Given the description of an element on the screen output the (x, y) to click on. 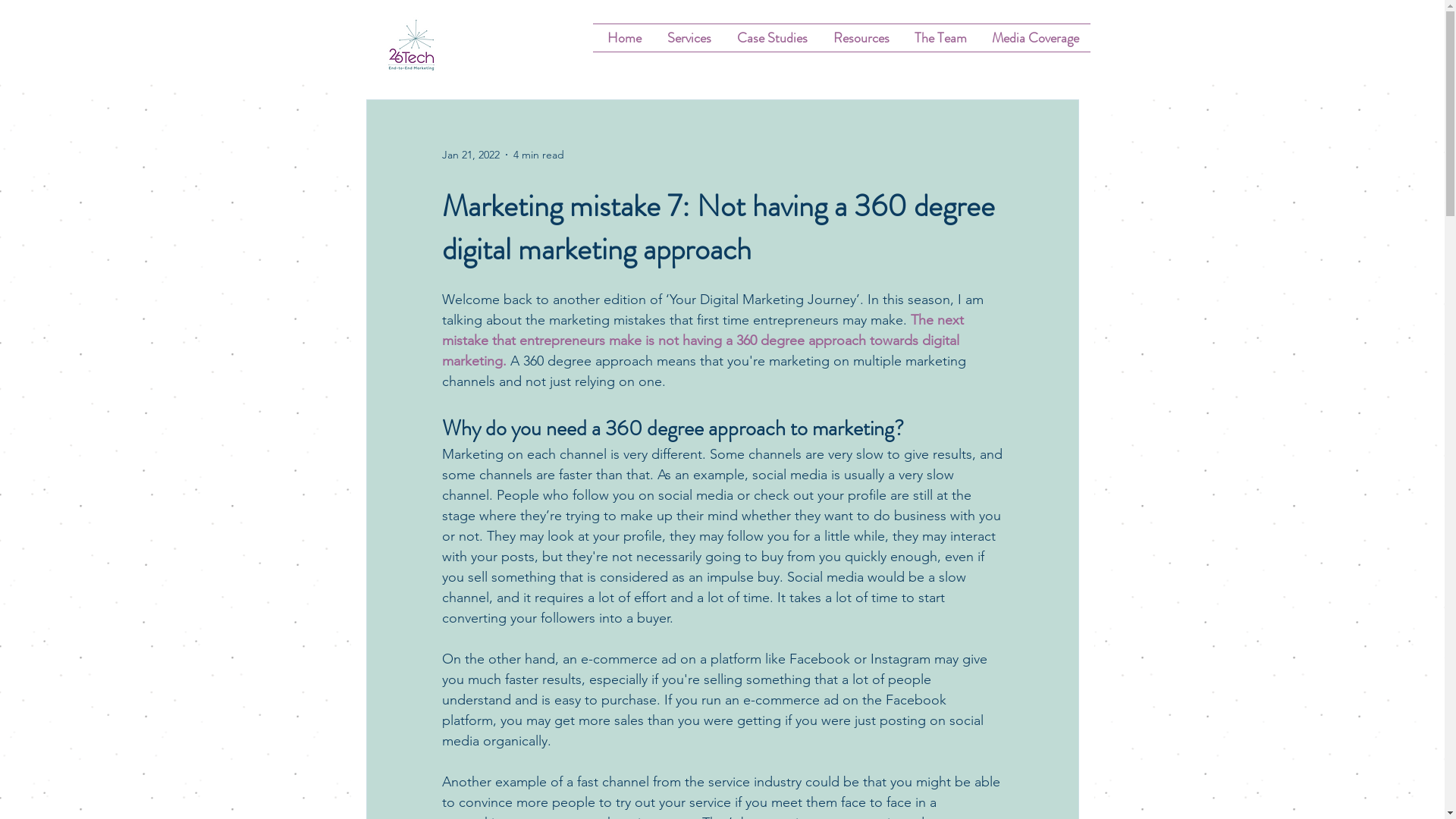
Case Studies Element type: text (769, 37)
Services Element type: text (686, 37)
The Team Element type: text (939, 37)
Home Element type: text (622, 37)
Media Coverage Element type: text (1034, 37)
